Given the description of an element on the screen output the (x, y) to click on. 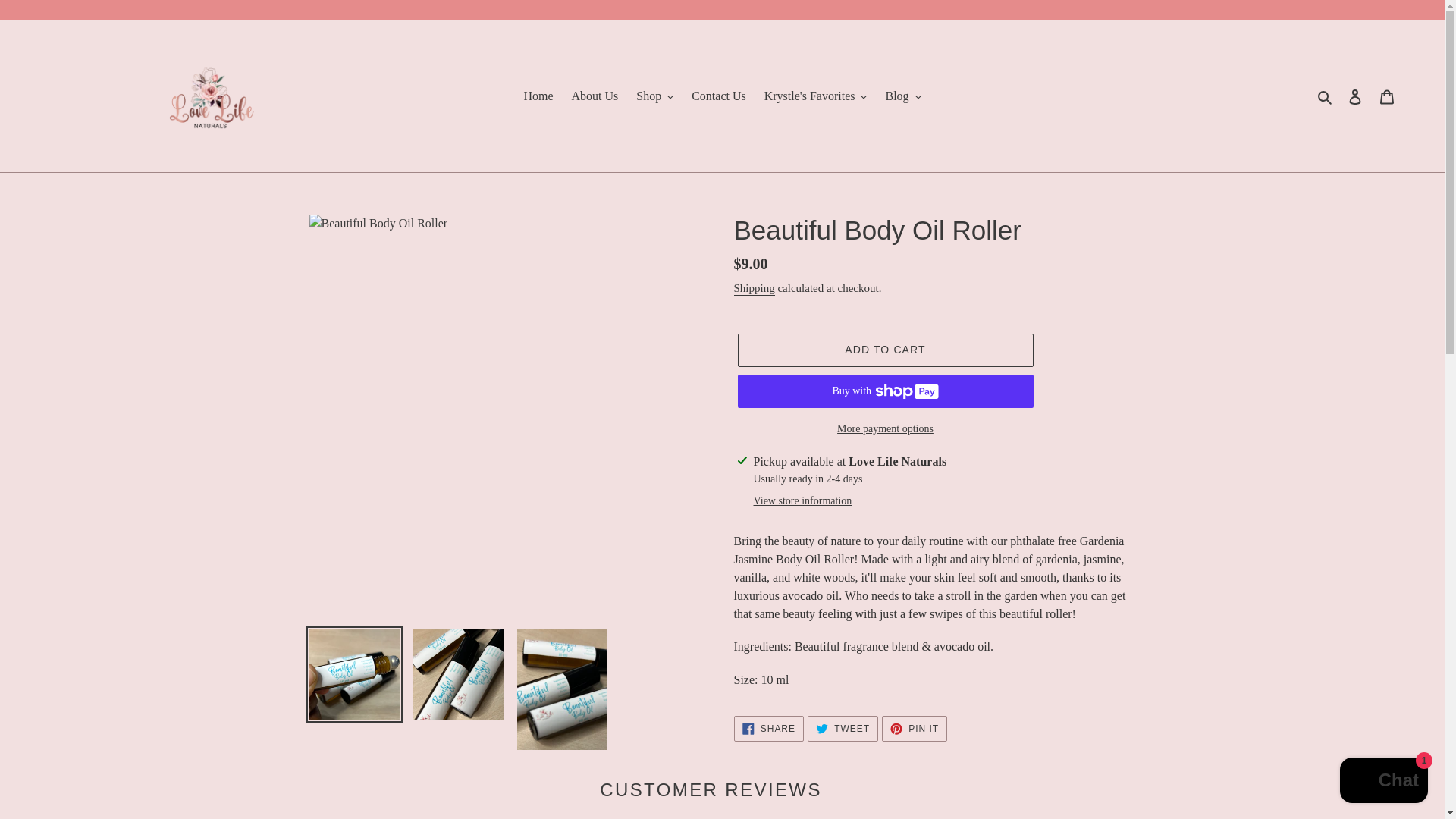
Krystle's Favorites (816, 96)
About Us (594, 96)
Shop (654, 96)
Blog (902, 96)
Home (537, 96)
Cart (1387, 96)
Log in (1355, 96)
Shopify online store chat (1383, 781)
Contact Us (719, 96)
Search (1326, 96)
